Given the description of an element on the screen output the (x, y) to click on. 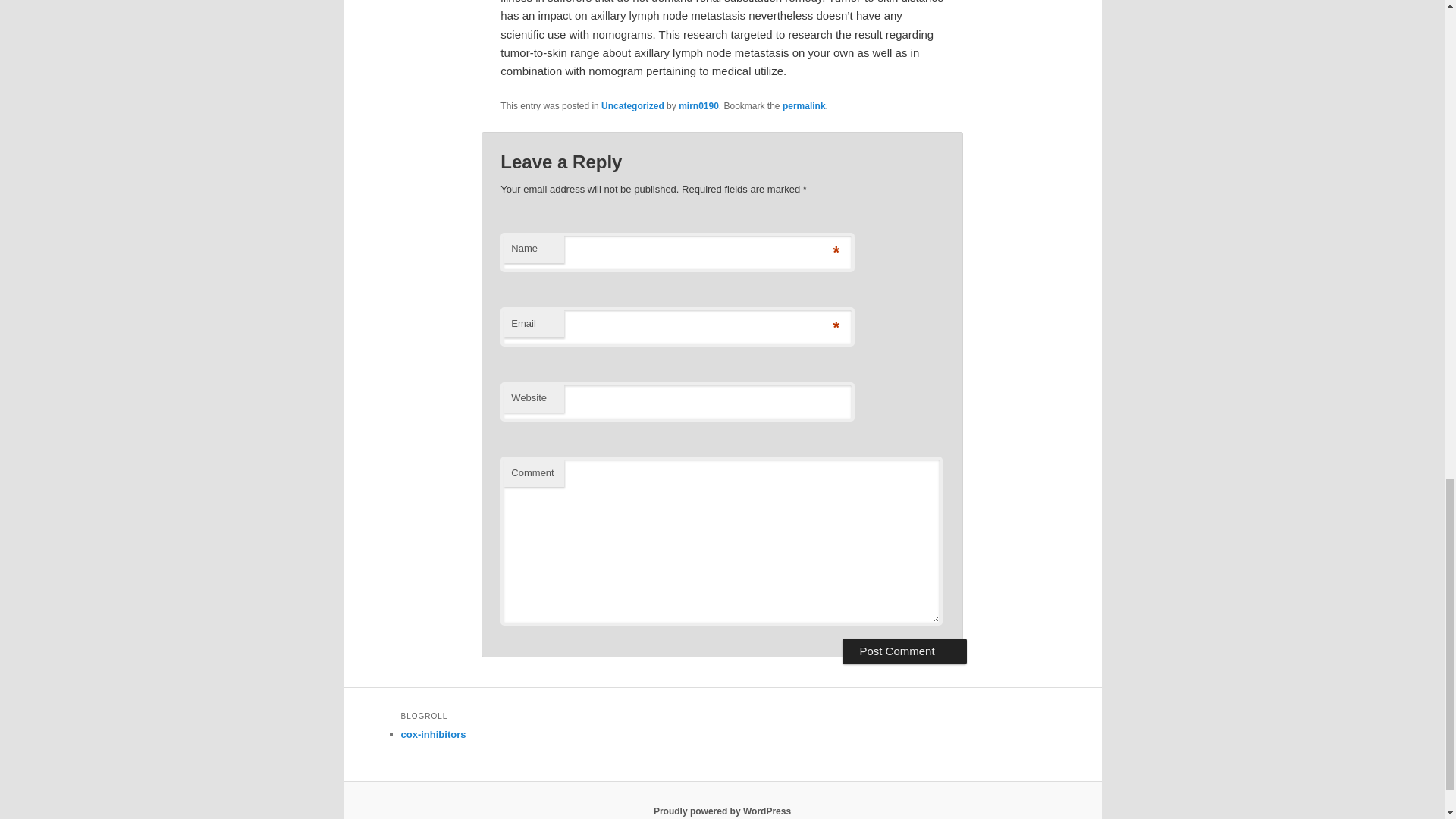
Post Comment (904, 651)
cox-inhibitors (432, 734)
permalink (804, 105)
mirn0190 (698, 105)
Post Comment (904, 651)
Uncategorized (632, 105)
Semantic Personal Publishing Platform (721, 810)
View all posts in Uncategorized (632, 105)
Proudly powered by WordPress (721, 810)
